Given the description of an element on the screen output the (x, y) to click on. 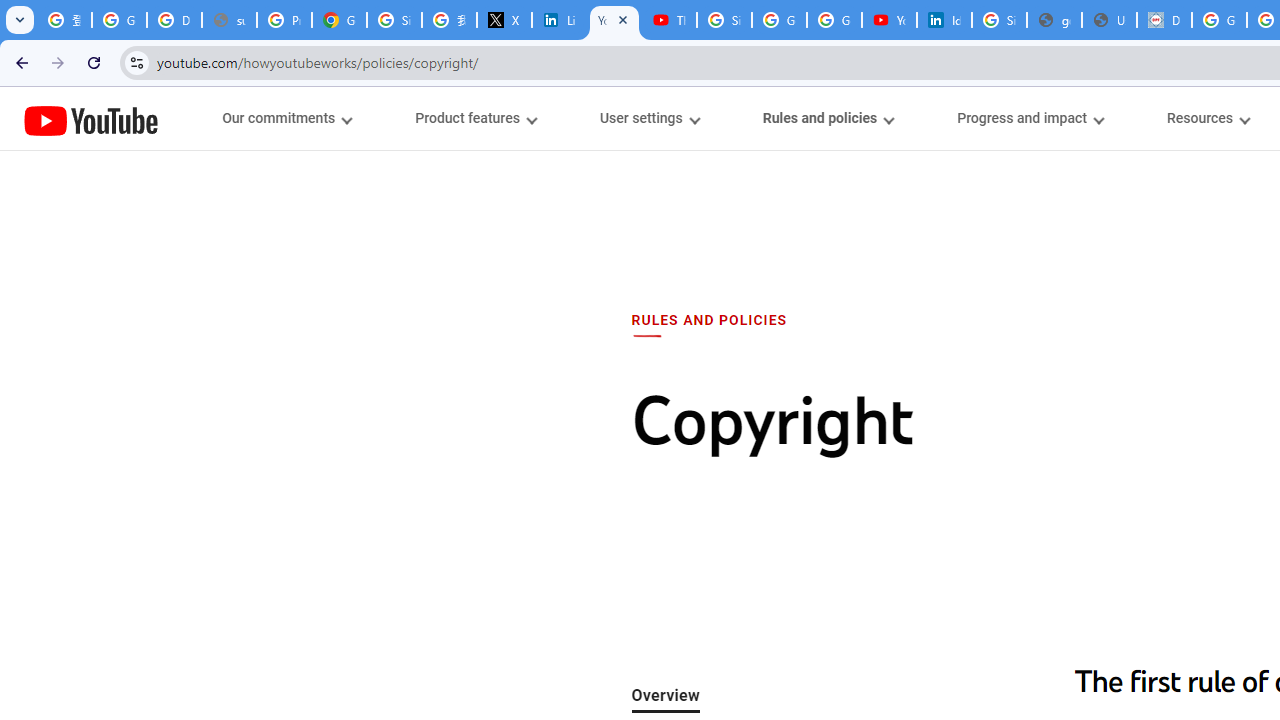
Data Privacy Framework (1163, 20)
Our commitments menupopup (286, 118)
How YouTube Works (91, 118)
Rules and policies menupopup (827, 118)
X (504, 20)
LinkedIn Privacy Policy (559, 20)
Resources menupopup (1208, 118)
